Given the description of an element on the screen output the (x, y) to click on. 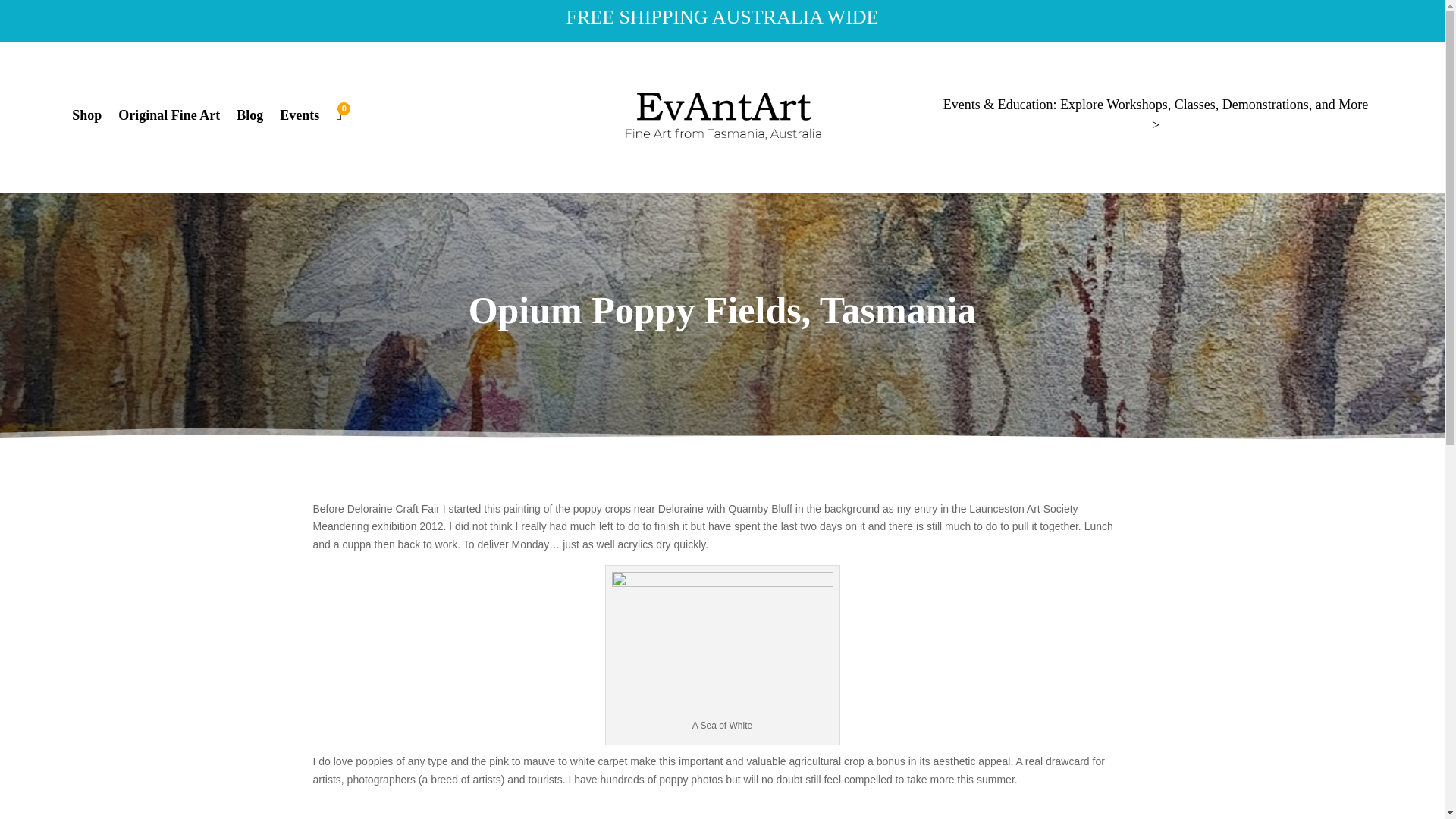
Poppy fields Deloraine (721, 644)
Evantart-Logo-sml (722, 115)
Original Fine Art (168, 117)
Blog (249, 117)
Events (298, 117)
Shop (86, 117)
